Given the description of an element on the screen output the (x, y) to click on. 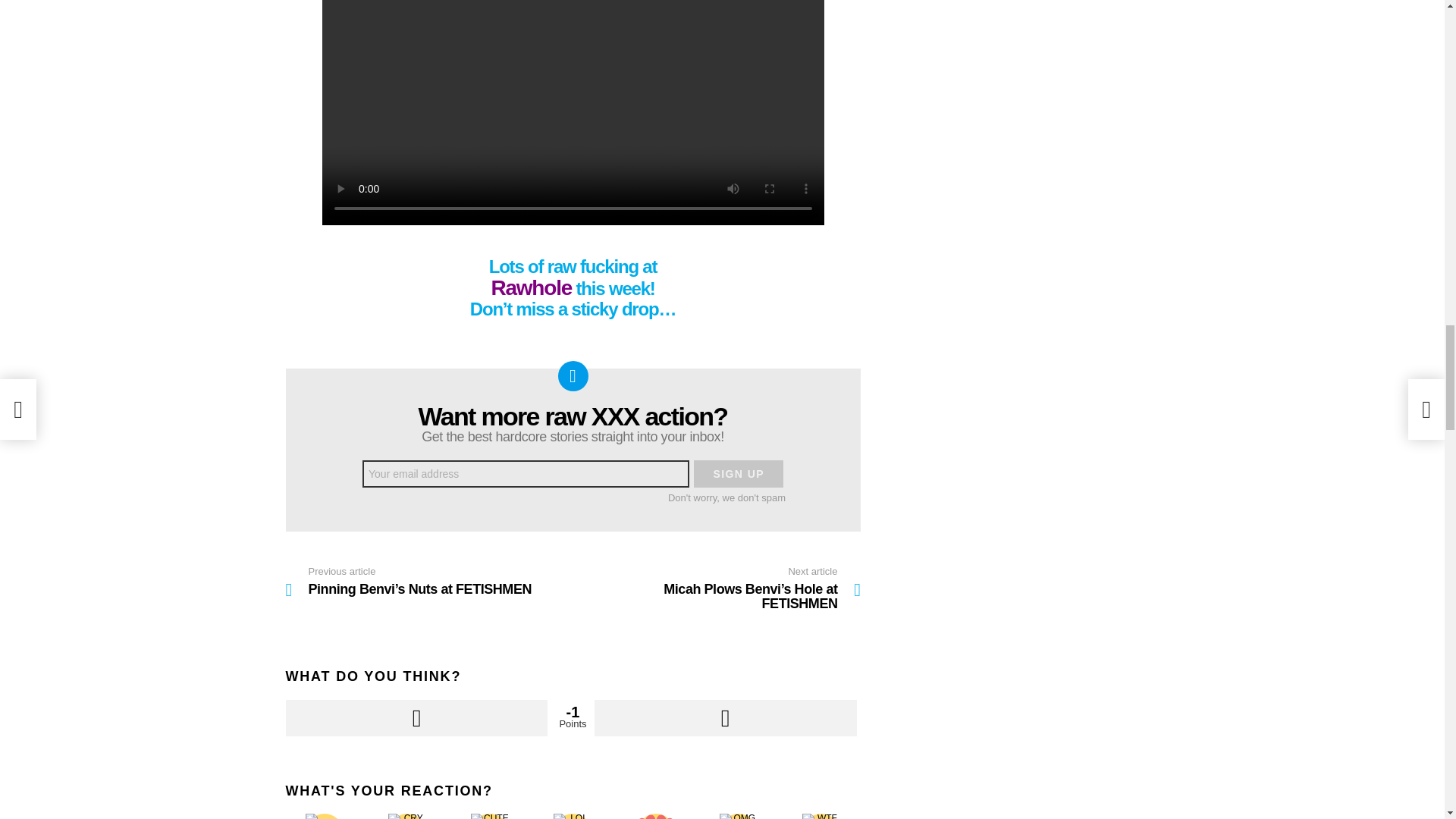
Sign up (738, 473)
Downvote (725, 718)
Upvote (416, 718)
